Given the description of an element on the screen output the (x, y) to click on. 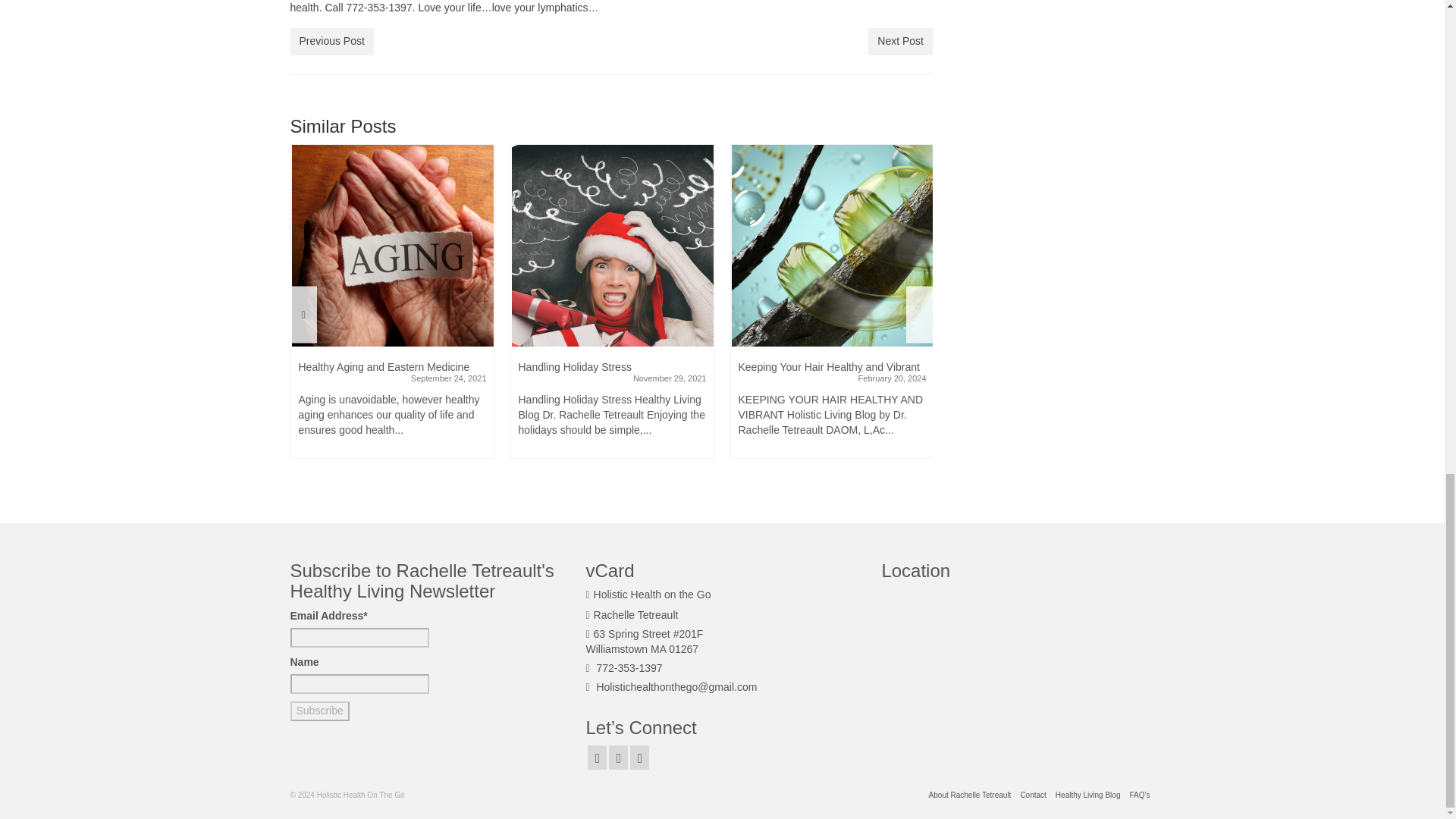
Handling Holiday Stress (612, 245)
Next Post (900, 41)
Subscribe (319, 711)
Previous Post (330, 41)
Healthy Aging and Eastern Medicine (393, 245)
Keeping Your Hair Healthy and Vibrant (832, 245)
